Given the description of an element on the screen output the (x, y) to click on. 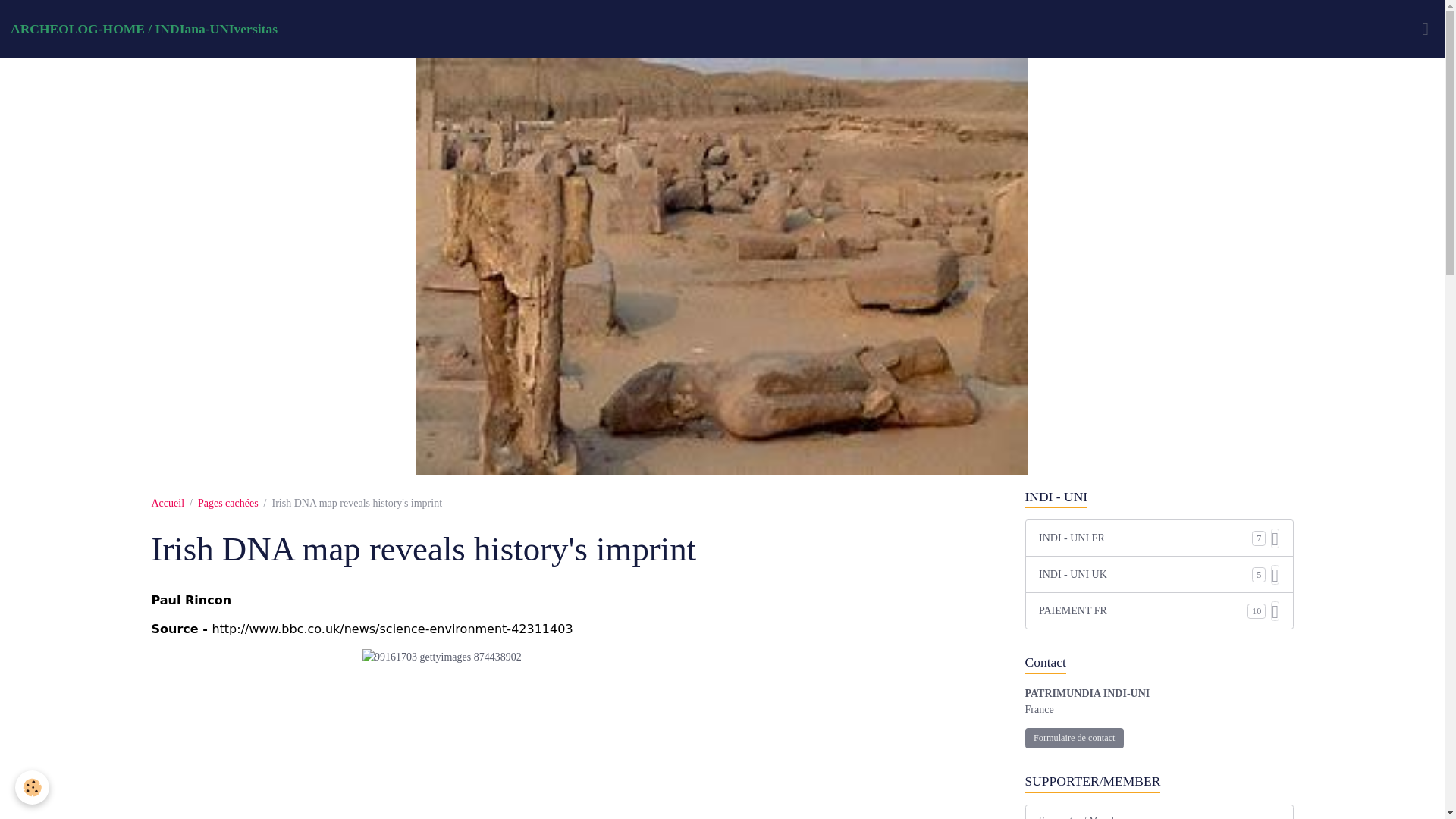
INDI - UNI (1159, 496)
Accueil (167, 502)
INDI - UNI UK (1145, 574)
PAIEMENT FR (1143, 610)
INDI - UNI FR (1145, 537)
Formulaire de contact (1074, 738)
